Given the description of an element on the screen output the (x, y) to click on. 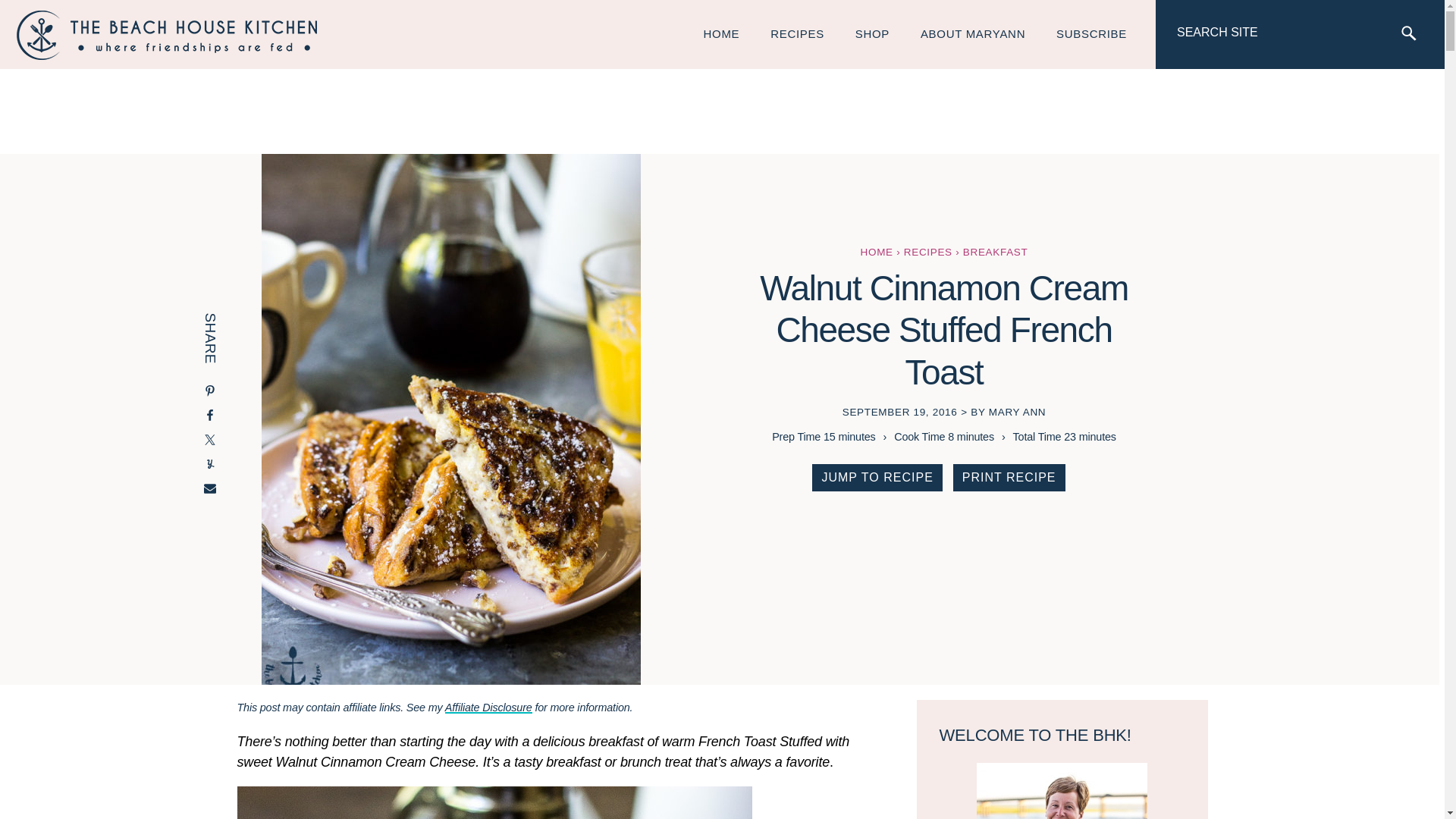
Share on Facebook (210, 416)
HOME (722, 33)
Share via Email (210, 489)
Share on Yummly (210, 465)
Share on Twitter (210, 441)
Share on Pinterest (210, 392)
RECIPES (797, 33)
